Given the description of an element on the screen output the (x, y) to click on. 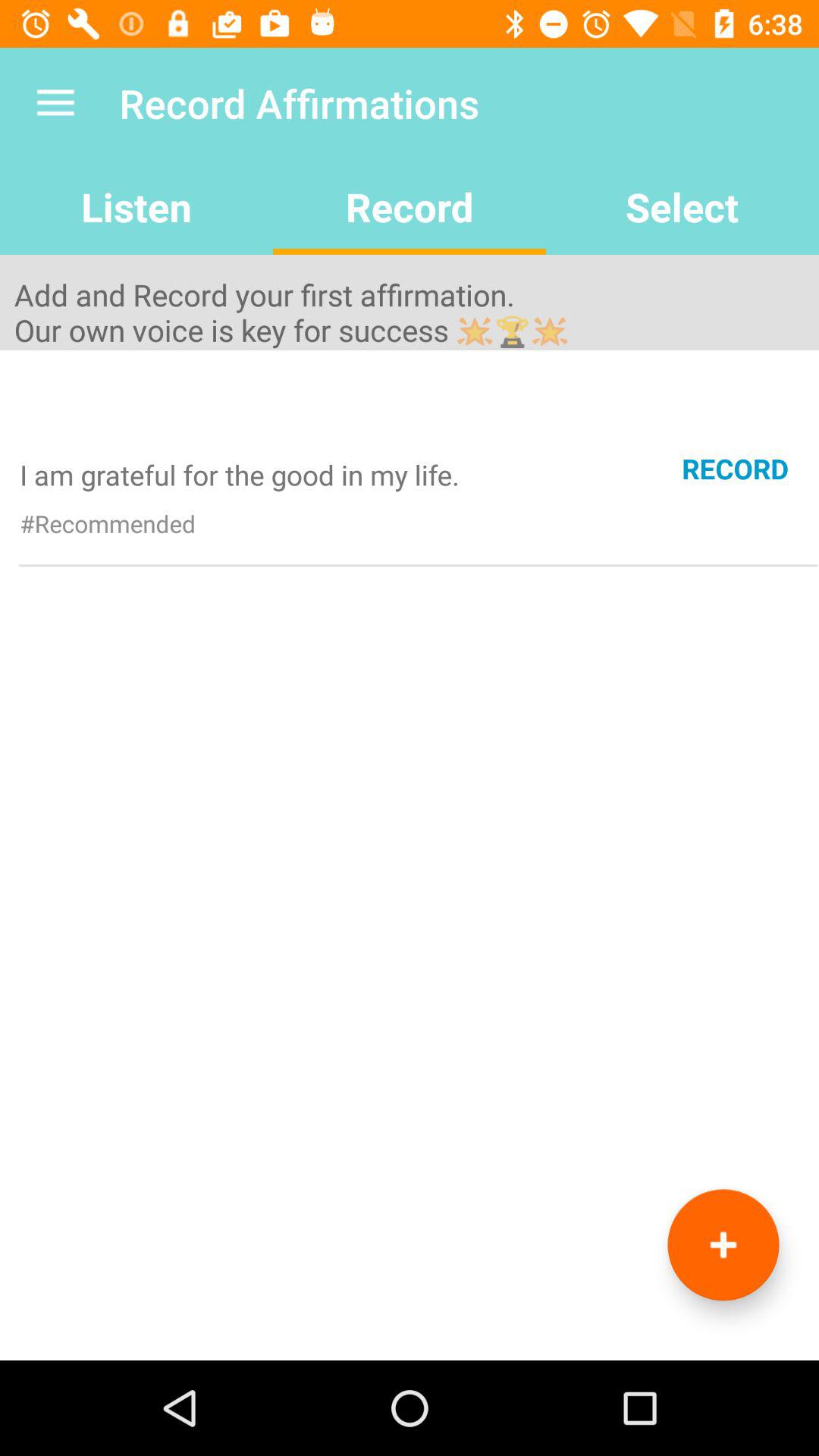
launch app to the left of the record affirmations icon (55, 103)
